Given the description of an element on the screen output the (x, y) to click on. 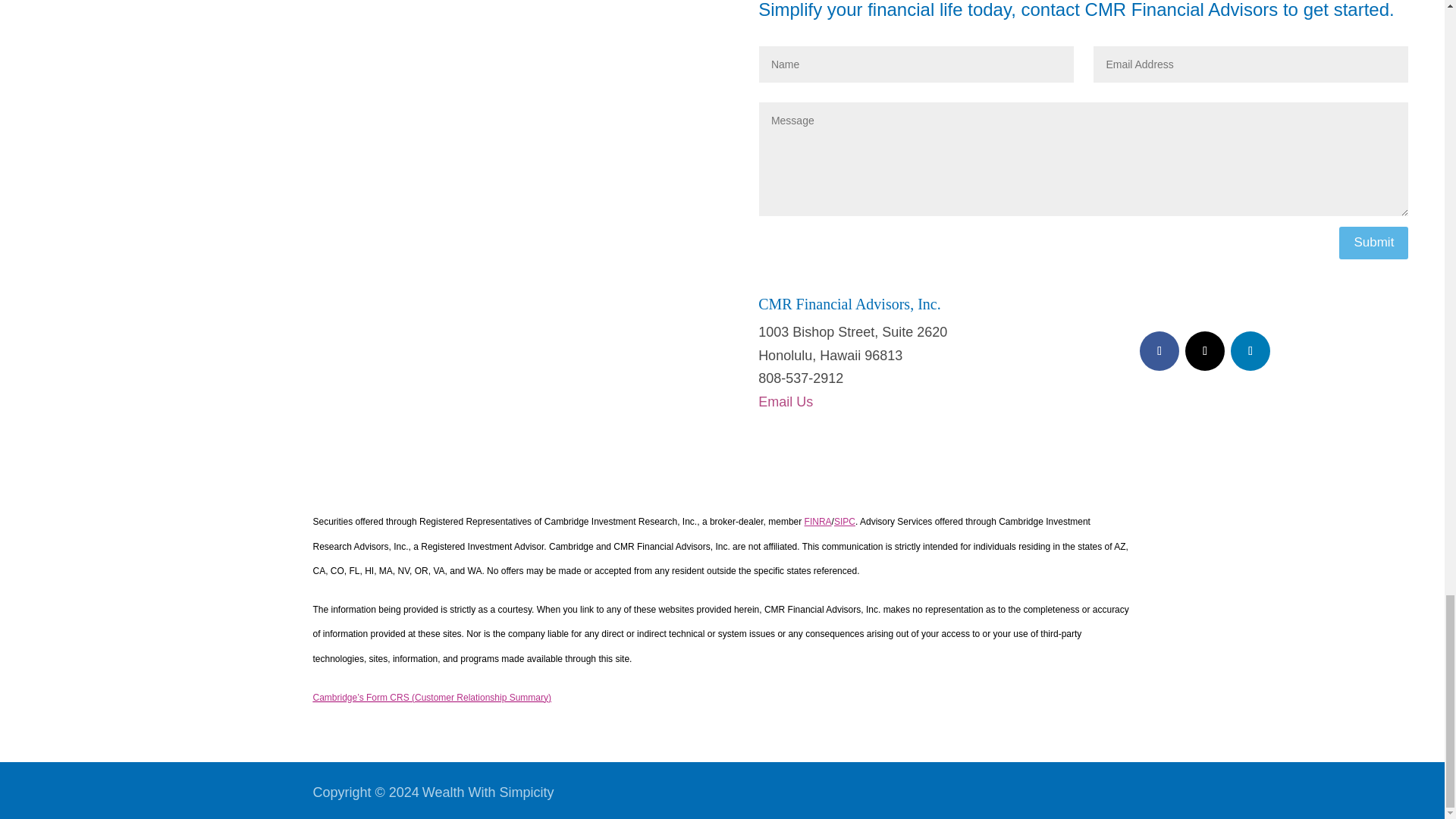
Follow on LinkedIn (1249, 351)
Submit (1373, 242)
Email Us (785, 401)
Follow on Facebook (1159, 351)
SIPC (845, 521)
FINRA (818, 521)
Follow on Twitter (1204, 351)
